Given the description of an element on the screen output the (x, y) to click on. 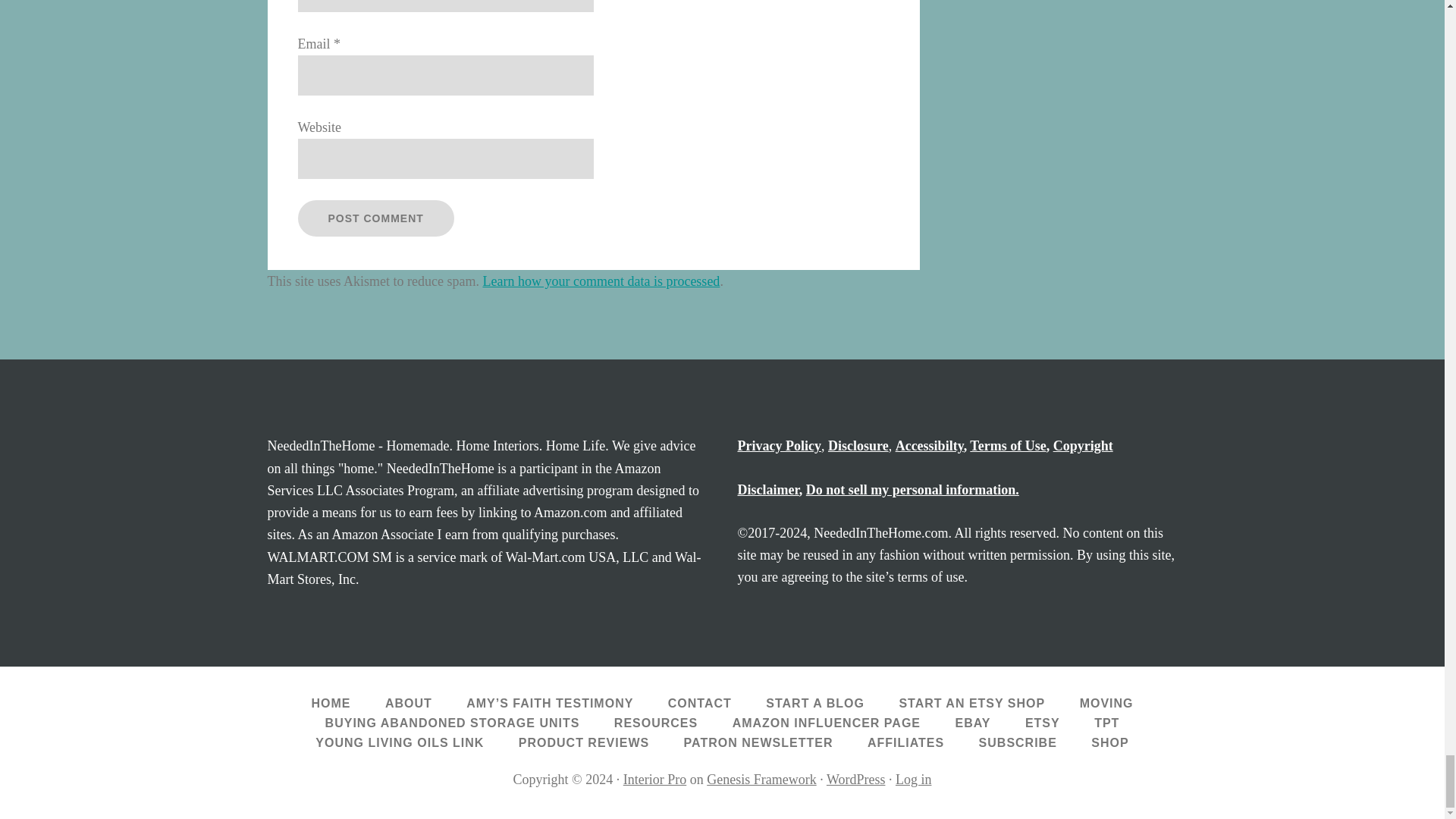
Post Comment (374, 217)
